Given the description of an element on the screen output the (x, y) to click on. 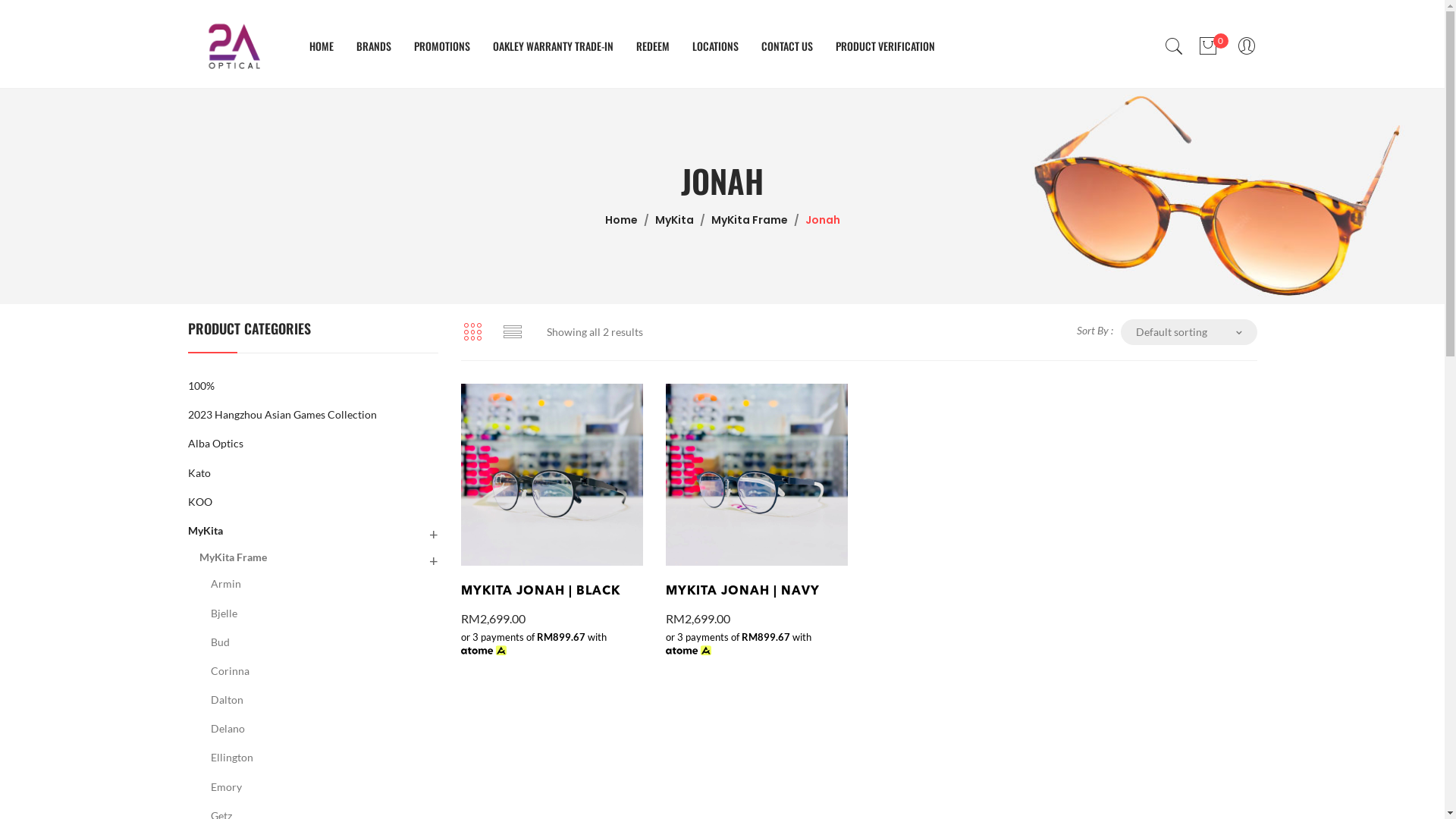
0 Element type: text (1208, 45)
BRANDS Element type: text (373, 45)
MyKita Element type: text (205, 529)
MyKita Frame Element type: text (232, 556)
MYKITA JONAH | NAVY Element type: text (756, 591)
Alba Optics Element type: text (215, 442)
MYKITA JONAH | BLACK Element type: text (552, 591)
Dalton Element type: text (226, 699)
REDEEM Element type: text (651, 45)
Kato Element type: text (199, 472)
PRODUCT VERIFICATION Element type: text (885, 45)
List Element type: text (511, 332)
Home Element type: text (621, 219)
Delano Element type: text (227, 727)
OAKLEY WARRANTY TRADE-IN Element type: text (552, 45)
Grid Element type: text (472, 332)
Default sorting Element type: text (1188, 332)
KOO Element type: text (200, 501)
CONTACT US Element type: text (786, 45)
PROMOTIONS Element type: text (442, 45)
MyKita Element type: text (674, 219)
Armin Element type: text (225, 583)
100% Element type: text (201, 385)
Emory Element type: text (225, 786)
2aoptical Element type: hover (234, 44)
Ellington Element type: text (231, 756)
2023 Hangzhou Asian Games Collection Element type: text (282, 413)
HOME Element type: text (321, 45)
LOCATIONS Element type: text (714, 45)
Bud Element type: text (219, 641)
MyKita Frame Element type: text (749, 219)
Bjelle Element type: text (223, 612)
Corinna Element type: text (229, 670)
